Given the description of an element on the screen output the (x, y) to click on. 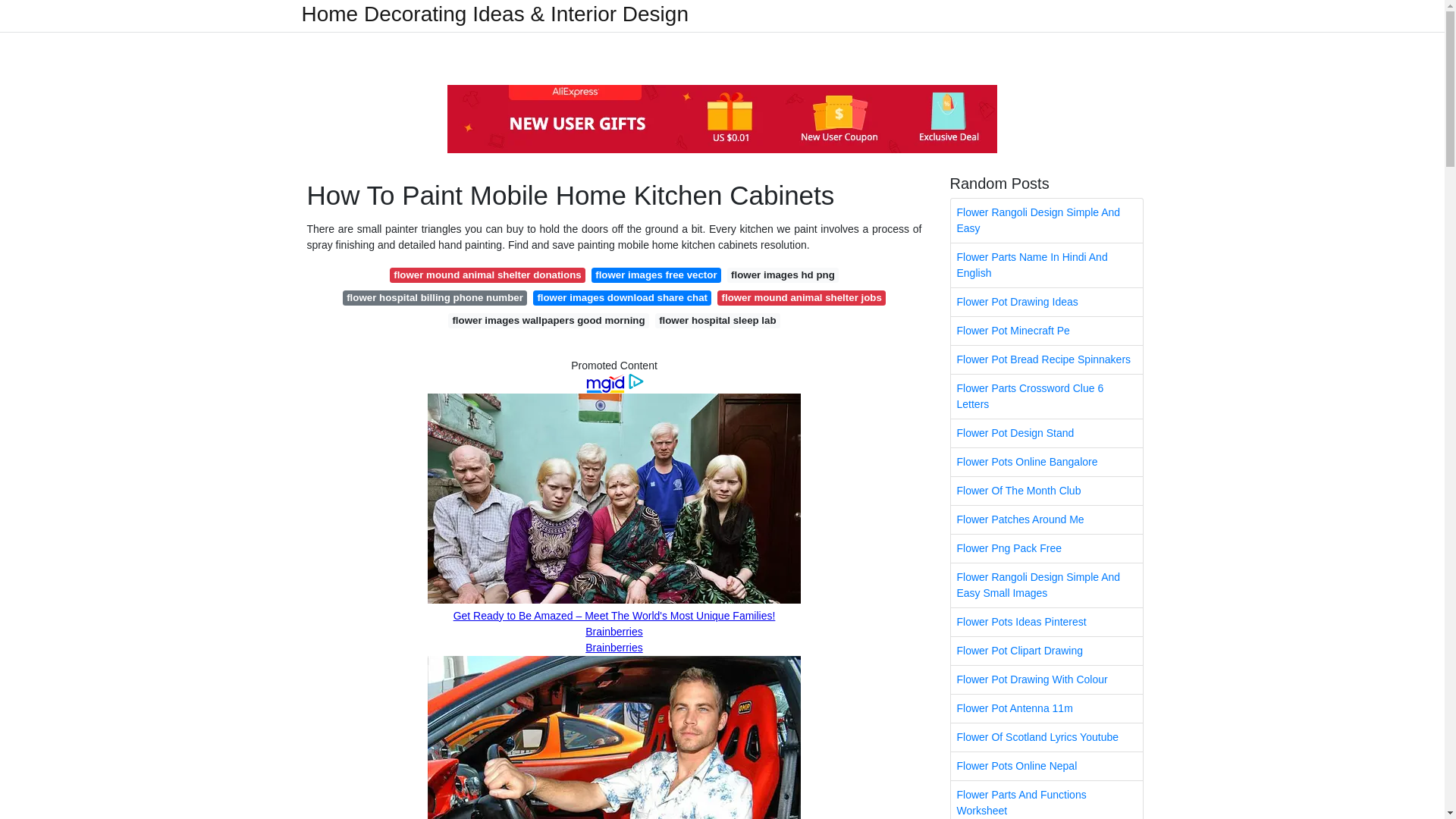
flower images download share chat (621, 297)
Flower Rangoli Design Simple And Easy (1046, 220)
Flower Parts Crossword Clue 6 Letters (1046, 396)
Flower Parts Name In Hindi And English (1046, 265)
flower hospital sleep lab (717, 320)
Flower Pot Bread Recipe Spinnakers (1046, 359)
flower images wallpapers good morning (548, 320)
Flower Pot Minecraft Pe (1046, 330)
flower images free vector (655, 274)
flower mound animal shelter jobs (801, 297)
flower images hd png (782, 274)
Flower Pots Online Bangalore (1046, 461)
Flower Pot Drawing Ideas (1046, 302)
Flower Of The Month Club (1046, 490)
flower mound animal shelter donations (487, 274)
